Given the description of an element on the screen output the (x, y) to click on. 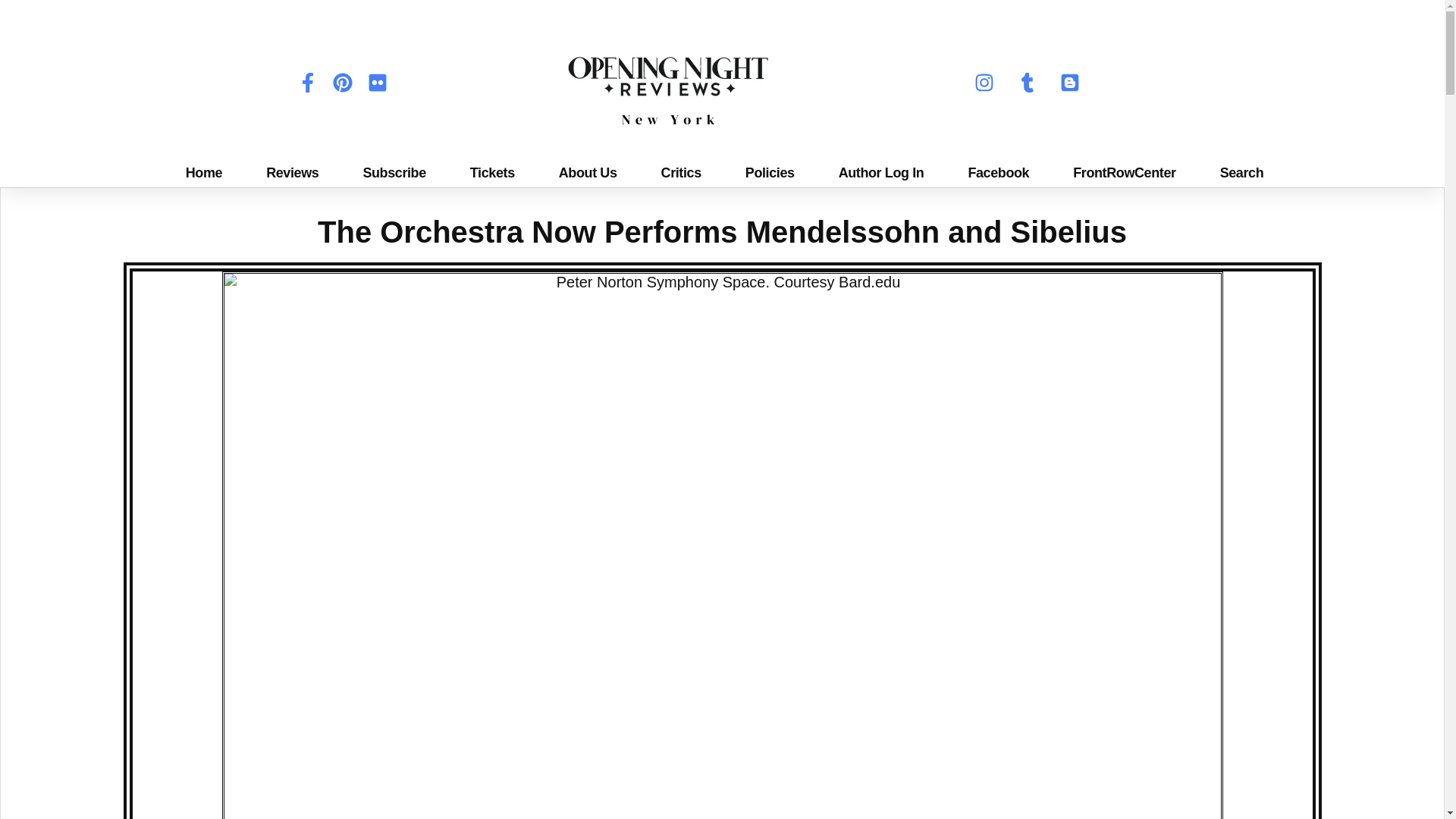
FrontRowCenter (1123, 172)
Tickets (491, 172)
Search (1241, 172)
Author Log In (879, 172)
Critics (680, 172)
Home (202, 172)
Policies (768, 172)
Reviews (292, 172)
About Us (587, 172)
Facebook (998, 172)
Subscribe (393, 172)
